Given the description of an element on the screen output the (x, y) to click on. 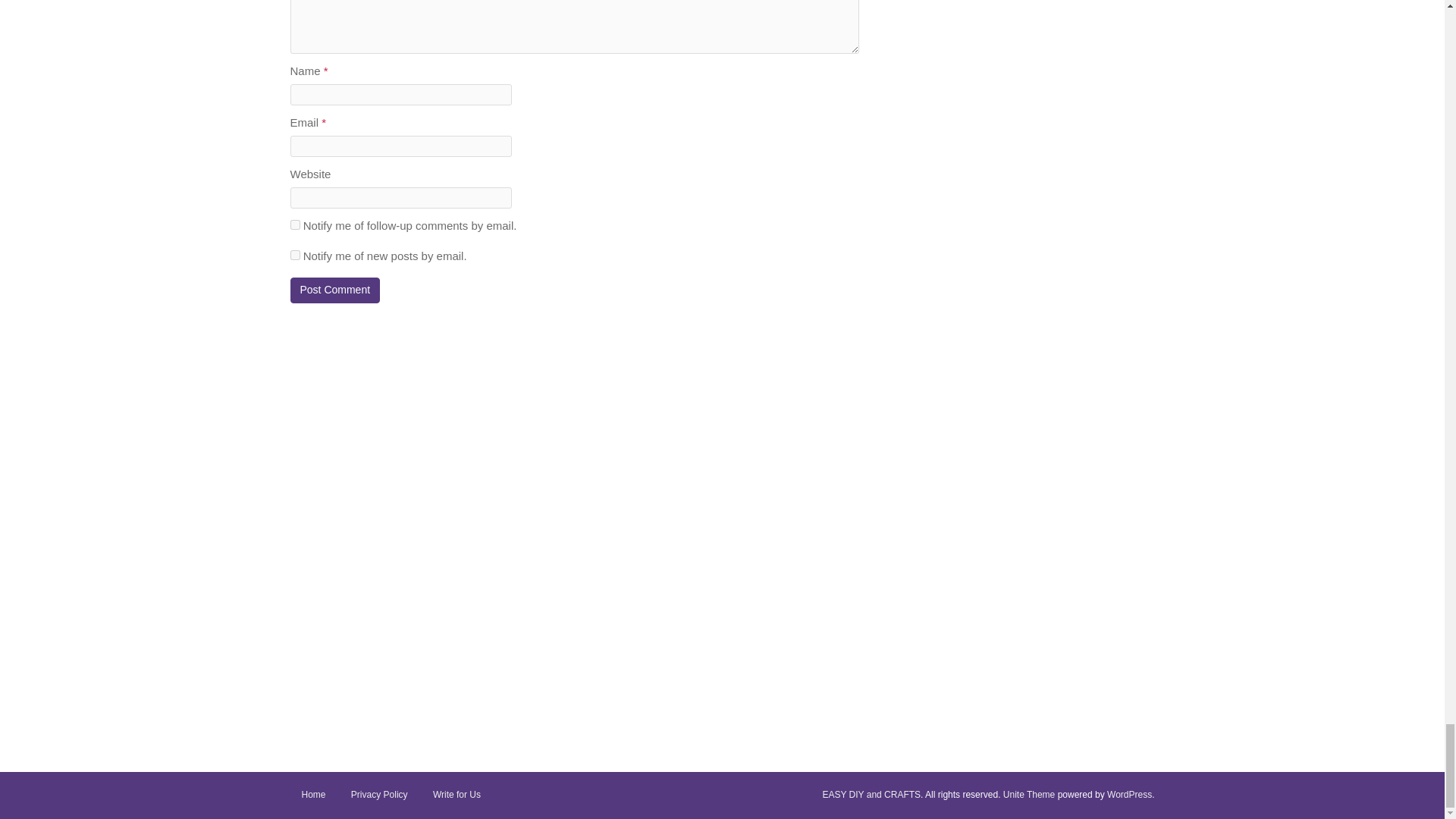
subscribe (294, 255)
Post Comment (334, 290)
Post Comment (334, 290)
subscribe (294, 225)
